Given the description of an element on the screen output the (x, y) to click on. 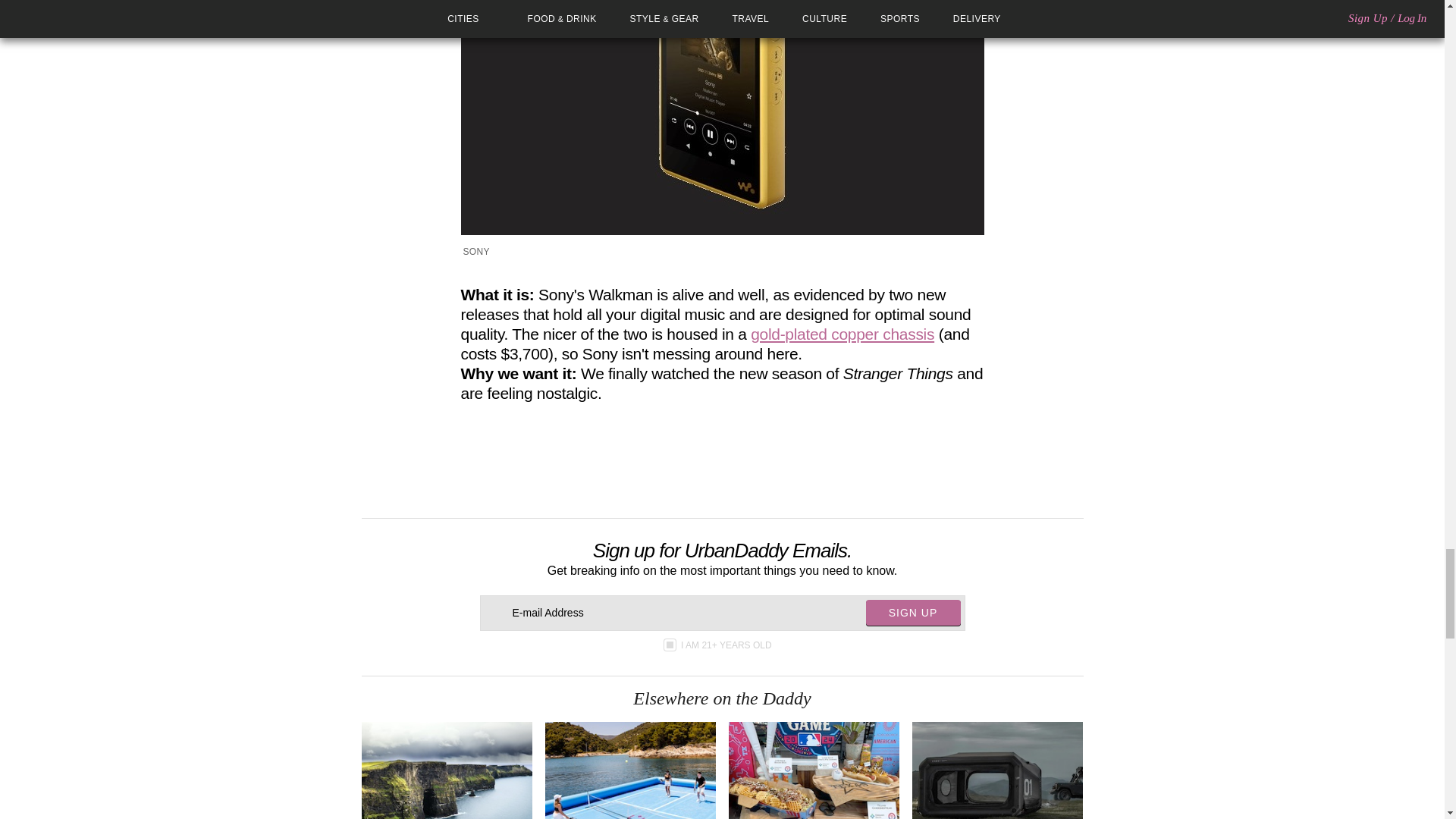
SIGN UP (913, 612)
sony walkman (722, 117)
Save (755, 455)
gold-plated copper chassis (842, 334)
Pinterest (732, 455)
